Given the description of an element on the screen output the (x, y) to click on. 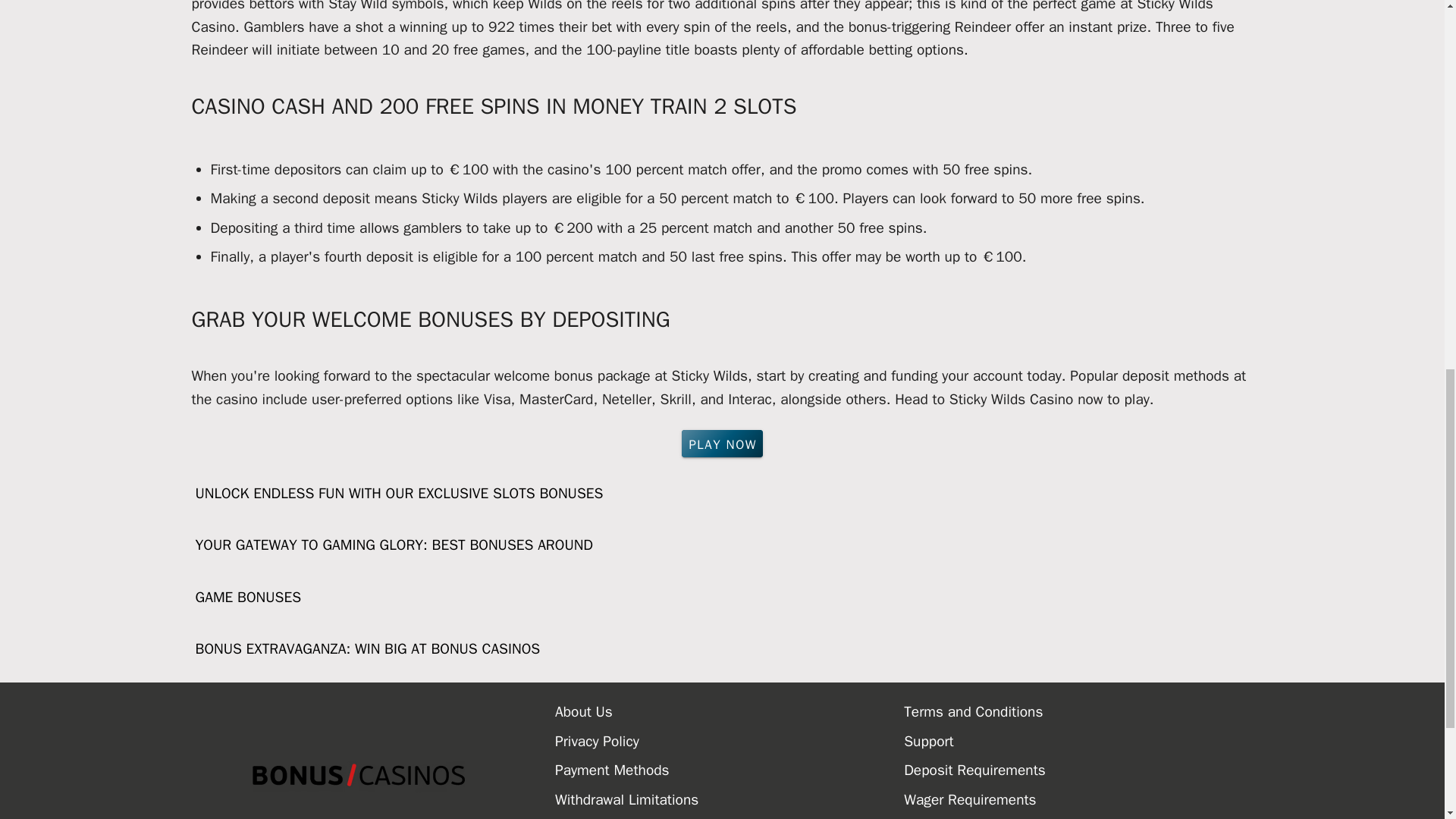
Support (1078, 741)
Casino Bonuses News (729, 816)
Payment Methods (729, 769)
Wager Requirements (1078, 799)
Withdrawal Limitations (729, 799)
PLAY NOW (721, 443)
Privacy Policy (729, 741)
About Us (729, 711)
100 Deposit Bonus (1078, 816)
Terms and Conditions (1078, 711)
Deposit Requirements (1078, 769)
